Given the description of an element on the screen output the (x, y) to click on. 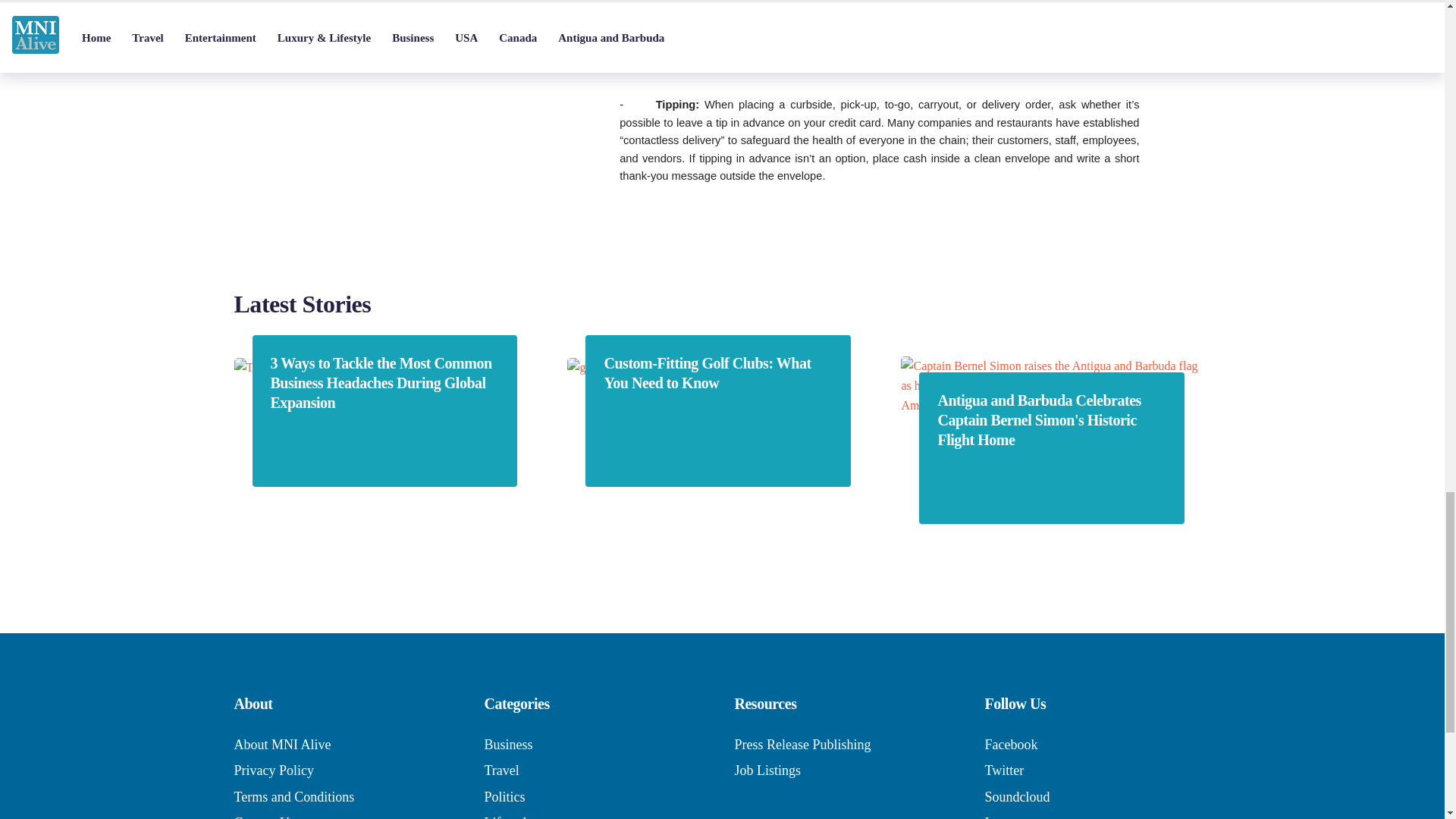
Politics (503, 796)
Contact Us (263, 816)
Terms and Conditions (292, 796)
Privacy Policy (273, 770)
Business (507, 744)
Travel (500, 770)
Lifestyle (507, 816)
Custom-Fitting Golf Clubs: What You Need to Know (717, 372)
Press Release Publishing (801, 744)
Job Listings (766, 770)
Twitter (1003, 770)
About MNI Alive (281, 744)
Soundcloud (1016, 796)
Facebook (1010, 744)
